Given the description of an element on the screen output the (x, y) to click on. 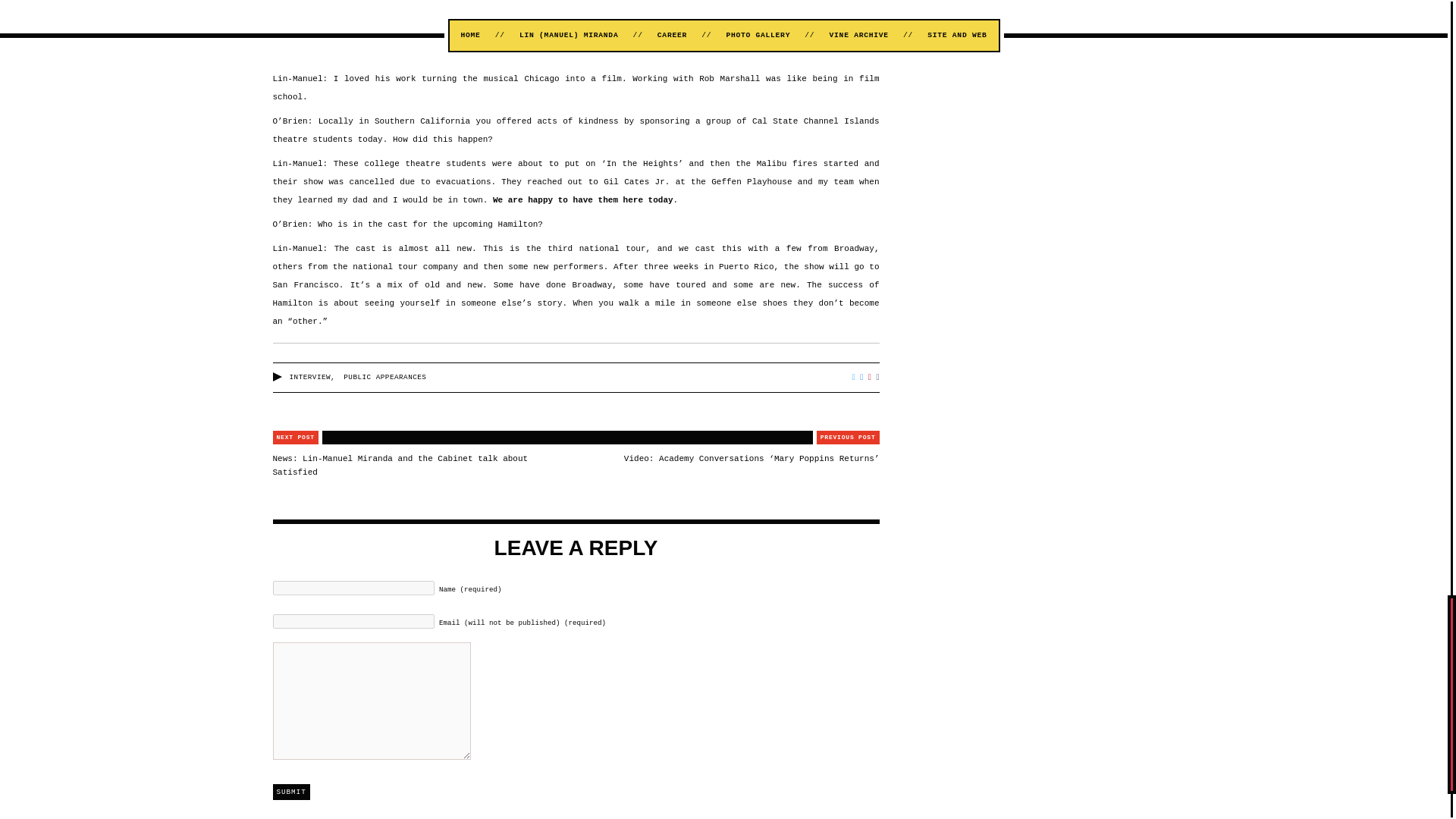
PUBLIC APPEARANCES (384, 377)
We are happy to have them here today (582, 199)
Submit (291, 791)
INTERVIEW (310, 377)
